Given the description of an element on the screen output the (x, y) to click on. 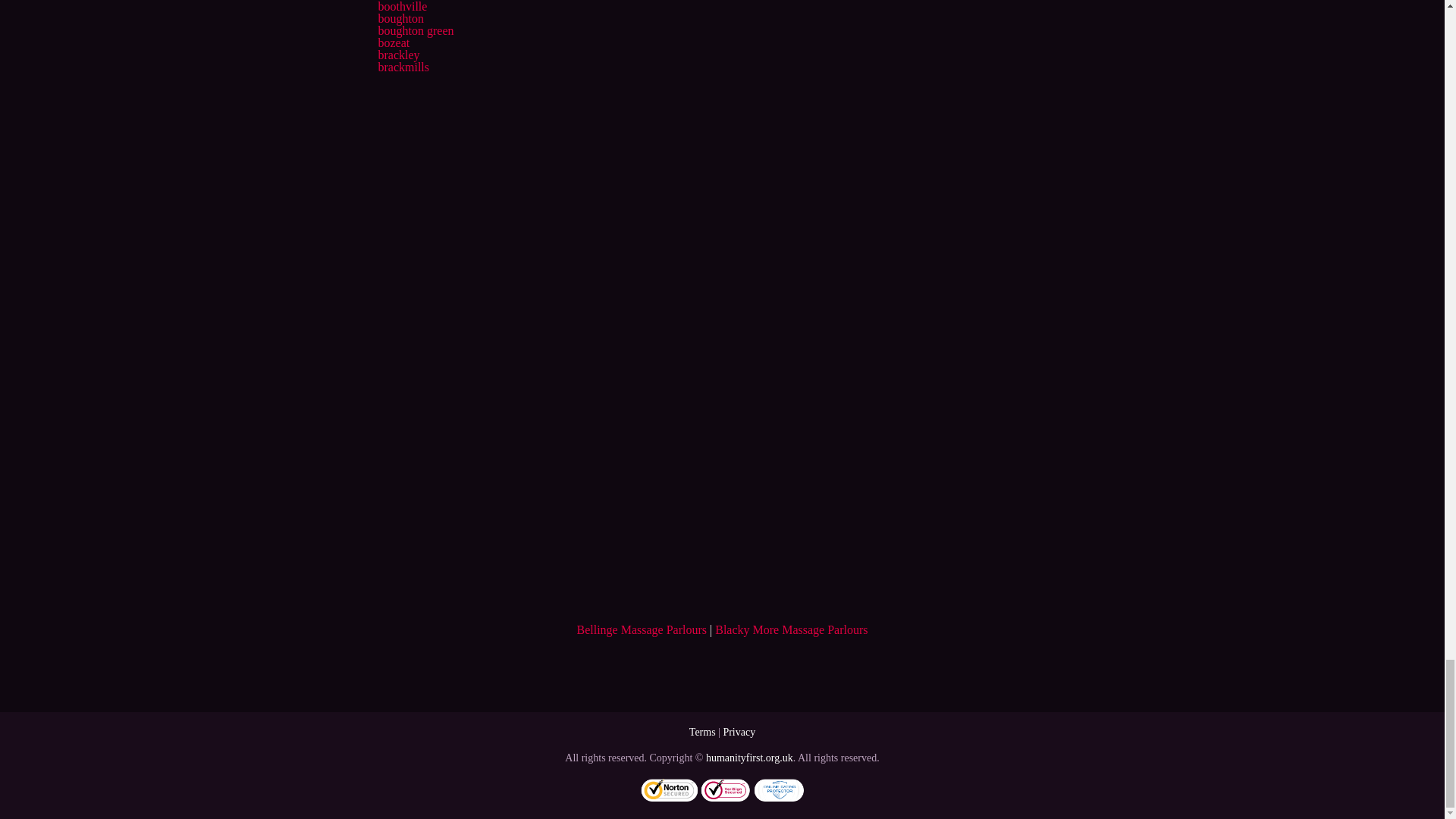
bozeat (393, 42)
brackley (398, 54)
Blacky More Massage Parlours (790, 629)
Terms (702, 731)
boughton (400, 18)
brackmills (403, 66)
blisworth (400, 0)
Privacy (738, 731)
boothville (401, 6)
Bellinge Massage Parlours (641, 629)
